Given the description of an element on the screen output the (x, y) to click on. 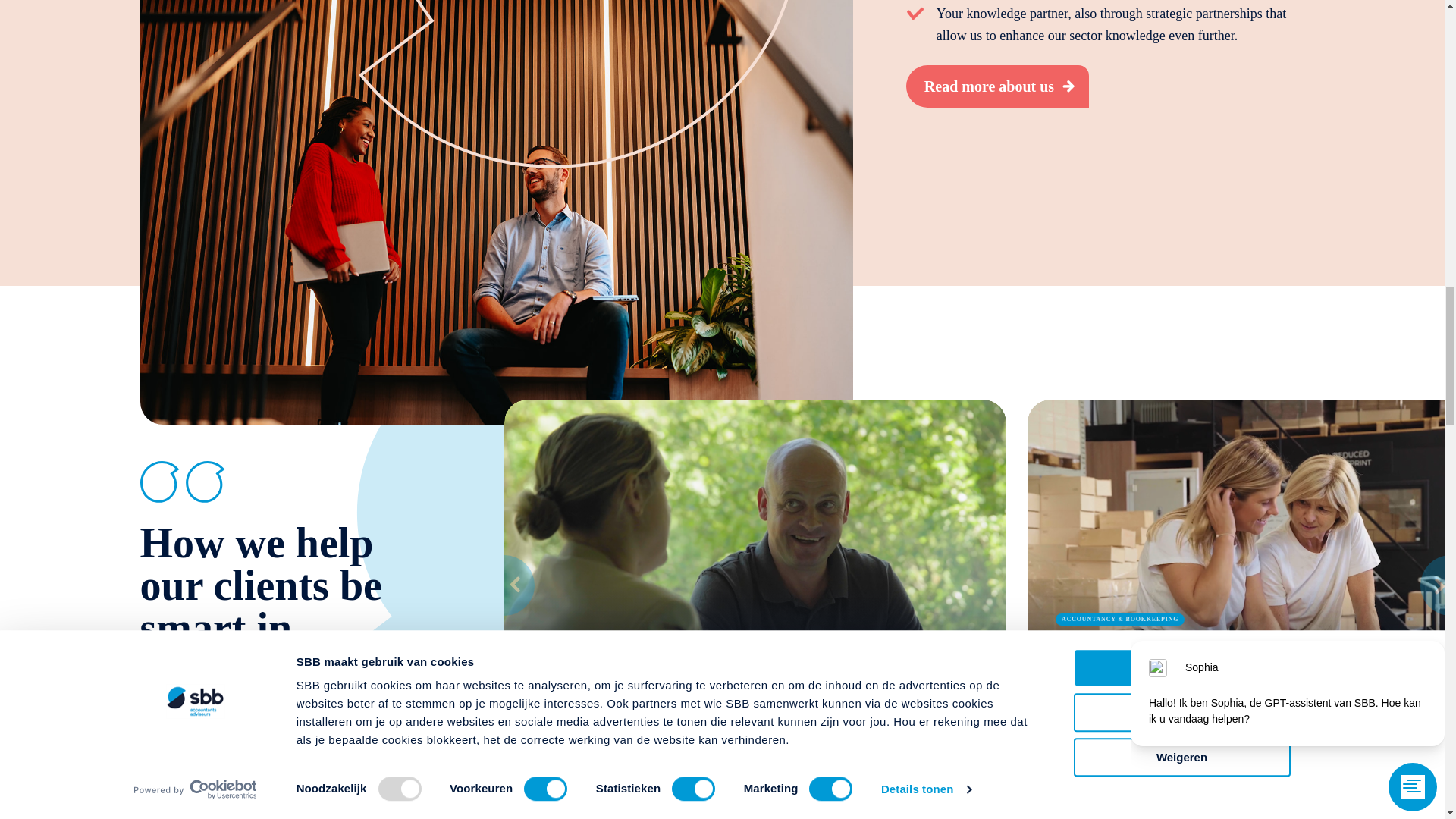
Who we are (997, 86)
